Given the description of an element on the screen output the (x, y) to click on. 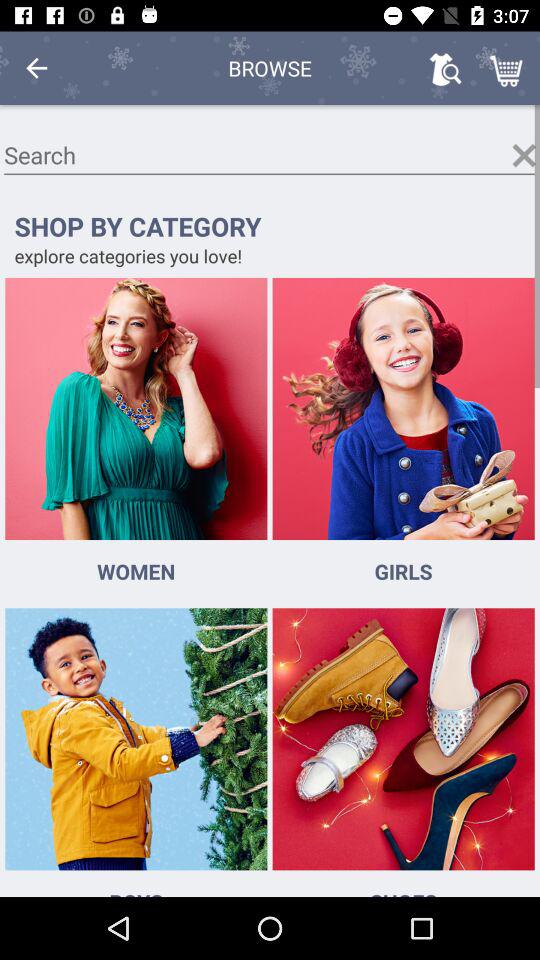
search (270, 155)
